Given the description of an element on the screen output the (x, y) to click on. 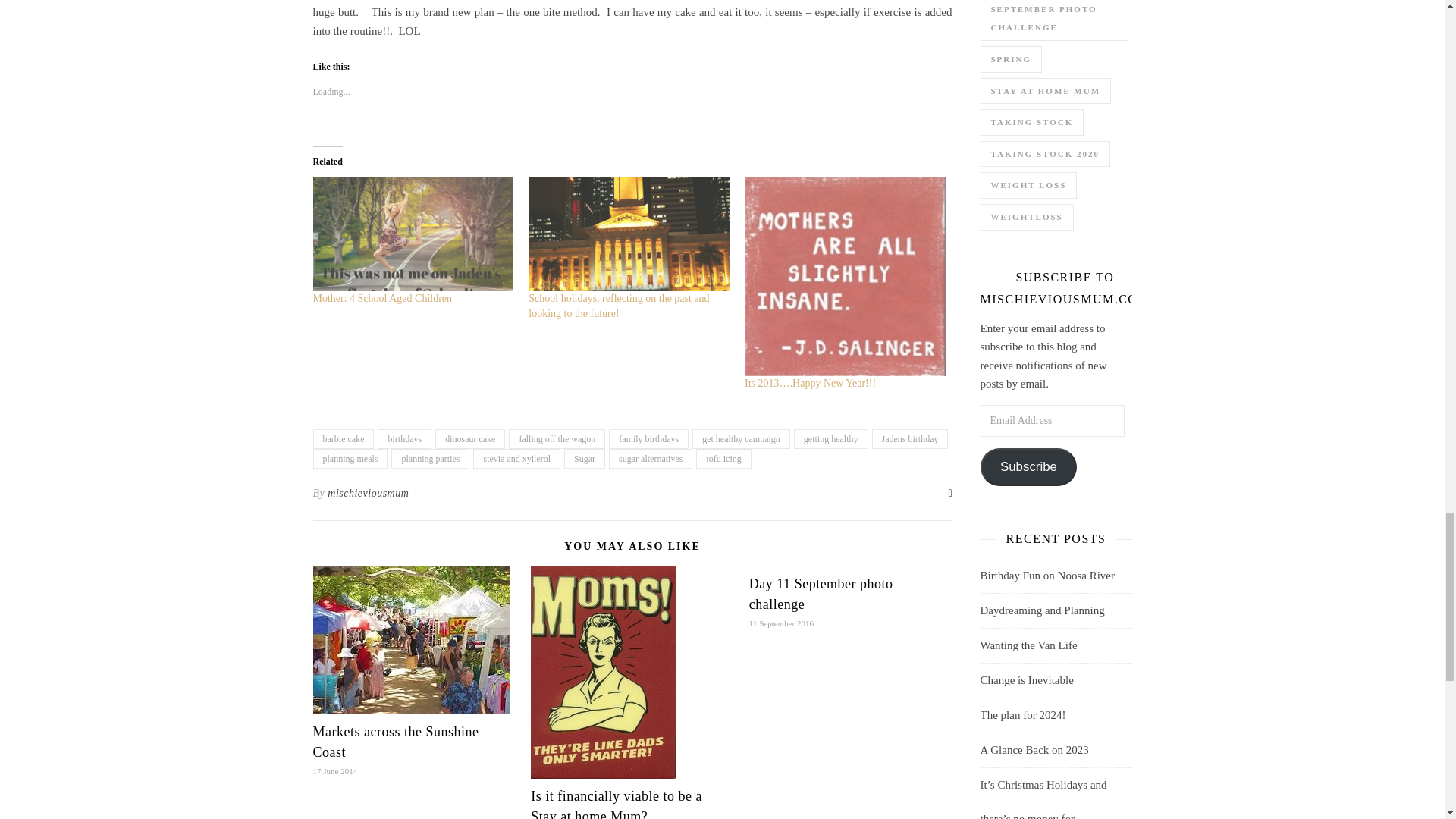
Mother: 4 School Aged Children (413, 233)
Mother: 4 School Aged Children (382, 297)
Posts by mischieviousmum (368, 493)
